Given the description of an element on the screen output the (x, y) to click on. 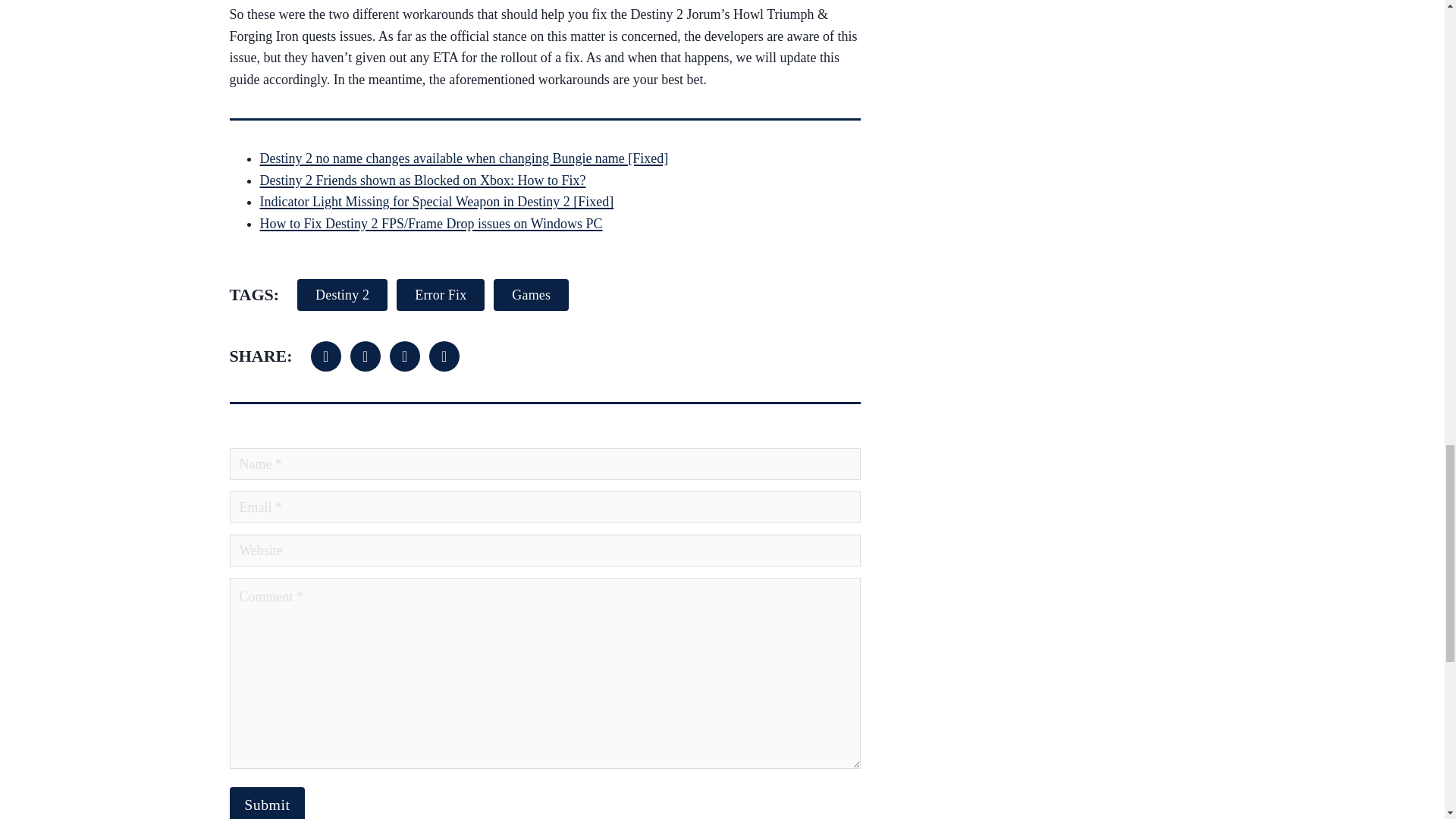
Submit (266, 803)
Destiny 2 Friends shown as Blocked on Xbox: How to Fix? (422, 180)
Submit (266, 803)
Destiny 2 (342, 295)
Games (531, 295)
Error Fix (440, 295)
